Given the description of an element on the screen output the (x, y) to click on. 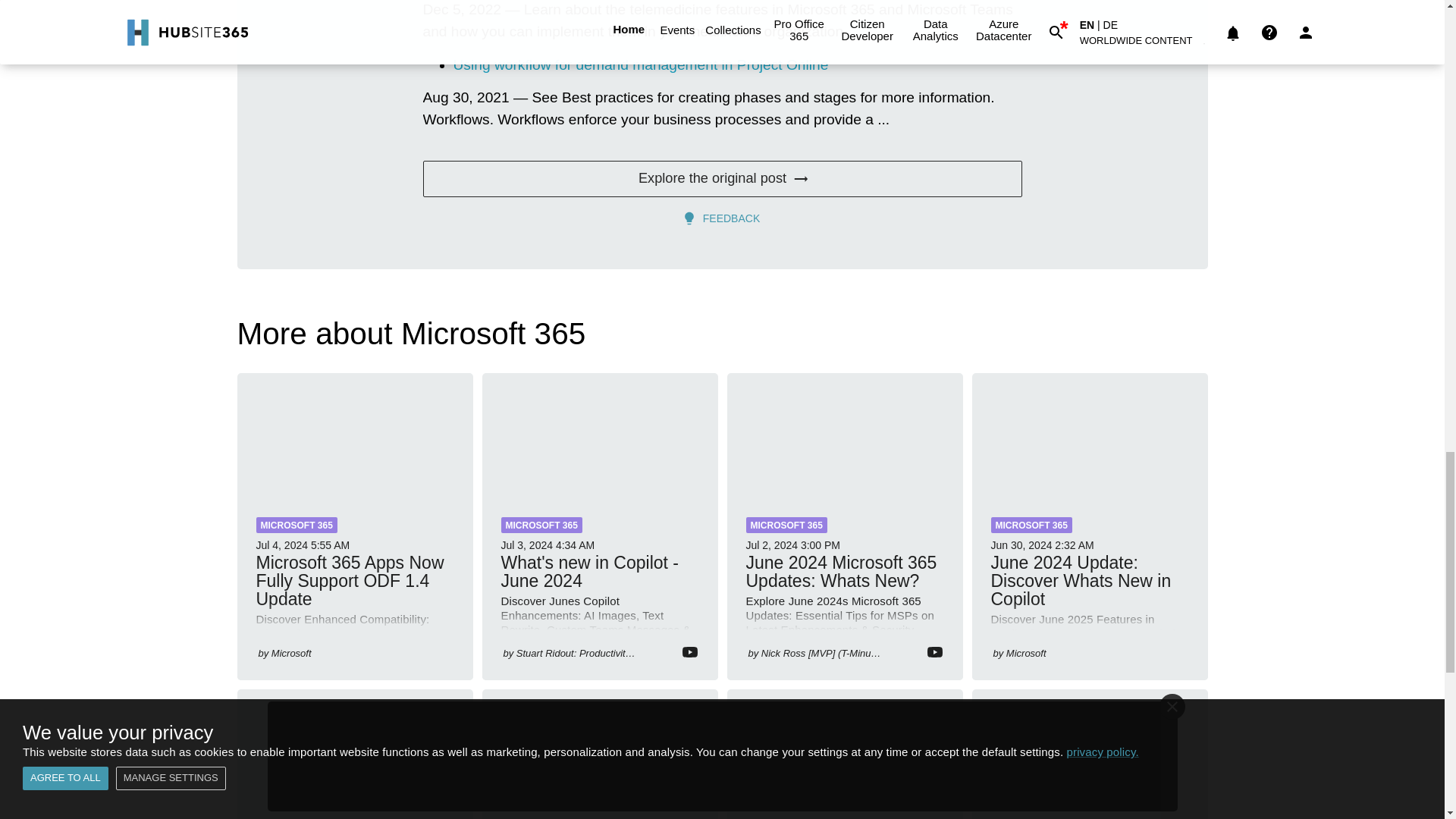
FEEDBACK (721, 218)
Expert Insights: Building 365 Deep Dive (599, 751)
June 2024 Microsoft 365 Updates: Whats New? (844, 435)
Optimize PDF Accessibility with Microsoft 365 Apps (1090, 751)
Office for Mac Update: KeyTips Feature Launched (353, 751)
Fabric - Environment Feature Now Available Worldwide (844, 751)
June 2024 Update: Discover Whats New in Copilot (1090, 435)
Using workflow for demand management in Project Online (640, 64)
Explore the original post (722, 178)
What's new in Copilot - June 2024 (599, 435)
Microsoft 365 Apps Now Fully Support ODF 1.4 Update (353, 435)
